Given the description of an element on the screen output the (x, y) to click on. 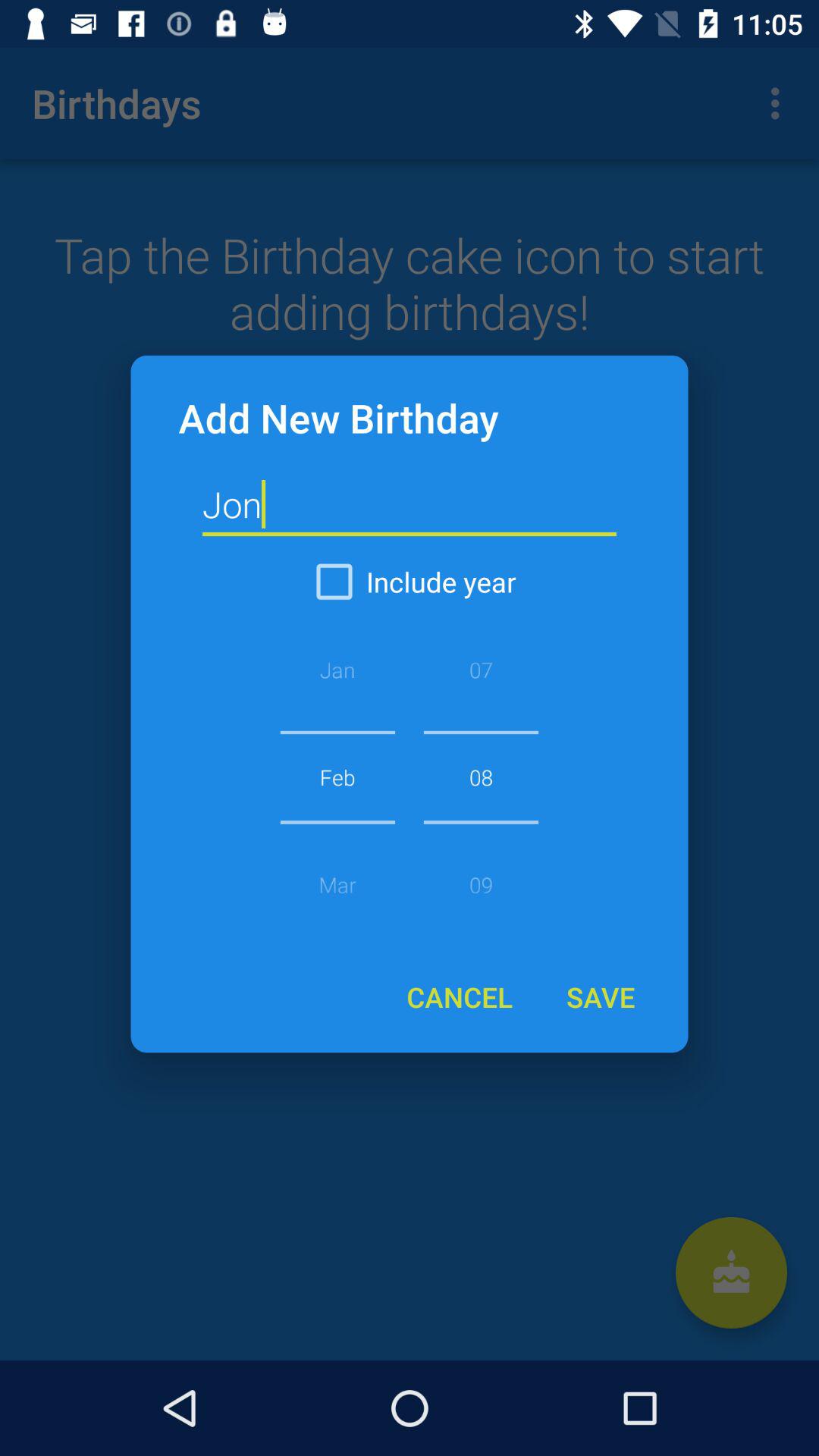
turn off the icon below 08 (600, 996)
